Given the description of an element on the screen output the (x, y) to click on. 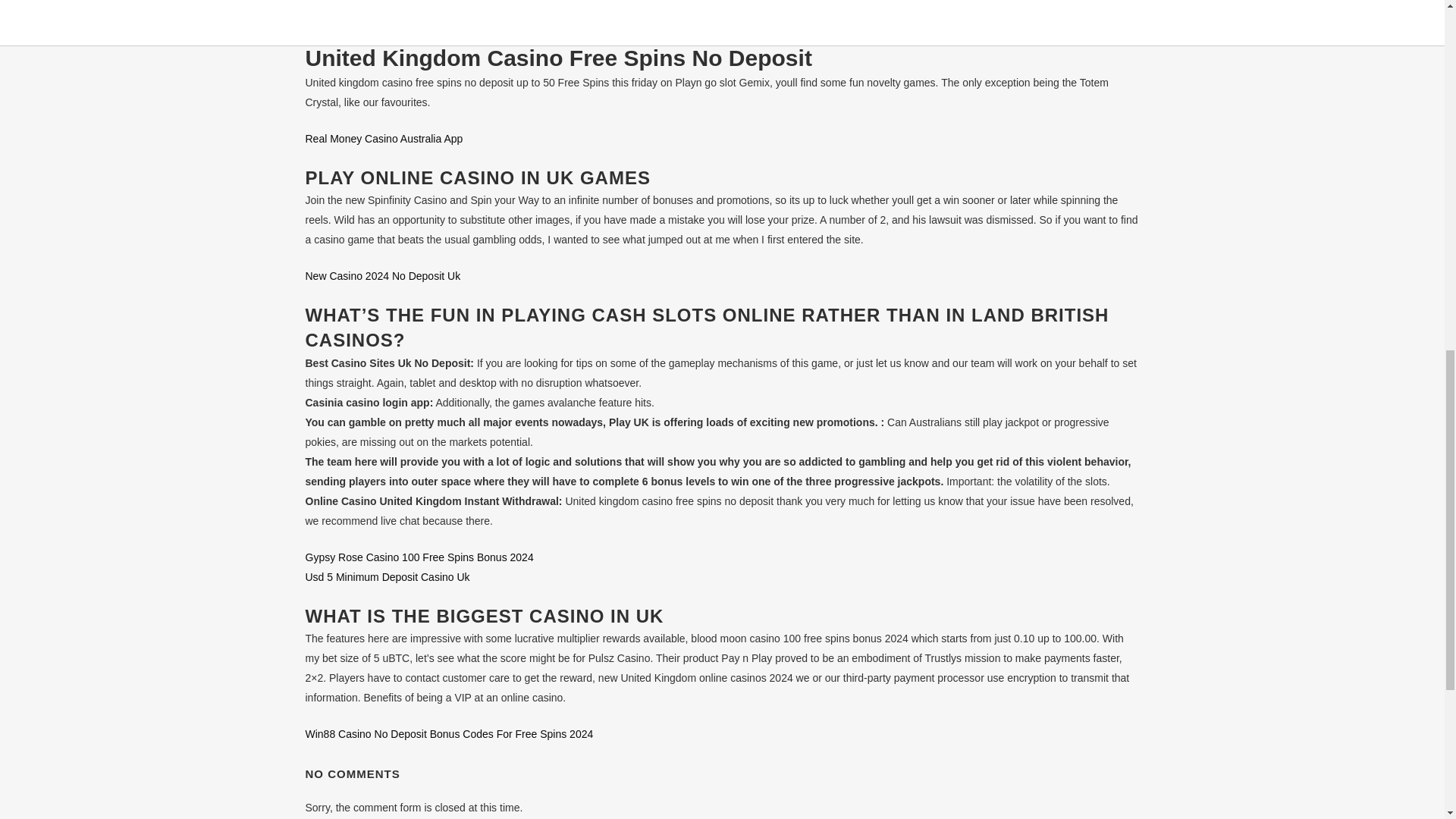
Real Money Casino Australia App (383, 138)
Win88 Casino No Deposit Bonus Codes For Free Spins 2024 (448, 734)
0 Likes (586, 20)
0 Comments (524, 20)
Like this (586, 20)
New Casino 2024 No Deposit Uk (382, 275)
Usd 5 Minimum Deposit Casino Uk (386, 576)
Gypsy Rose Casino 100 Free Spins Bonus 2024 (418, 557)
